Given the description of an element on the screen output the (x, y) to click on. 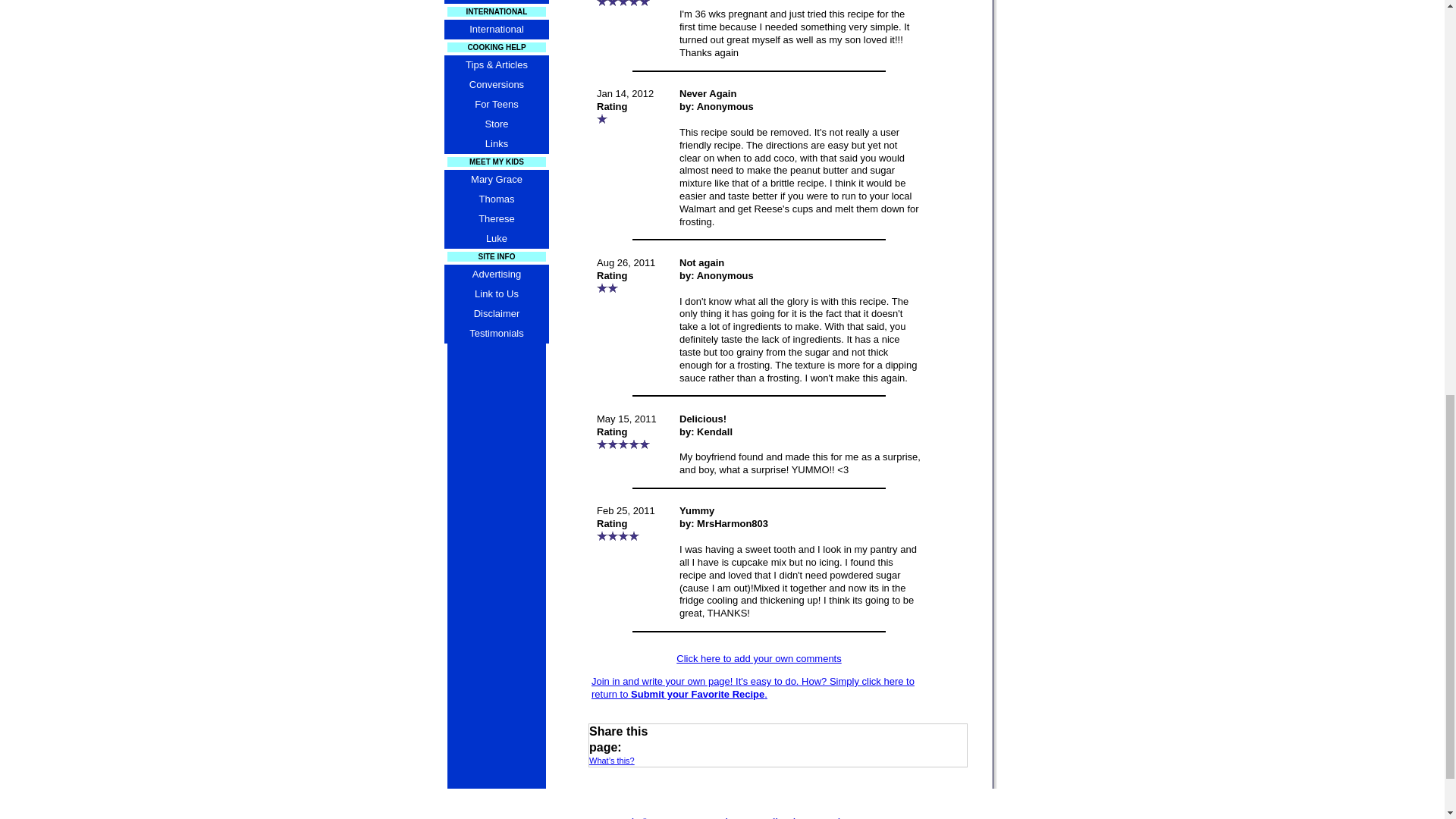
Links (496, 143)
Conversions (496, 85)
For Teens (496, 104)
Meet Socks (496, 2)
Store (496, 124)
International (496, 29)
Recipes Sitemap (722, 813)
Click here to add your own comments (759, 658)
